Given the description of an element on the screen output the (x, y) to click on. 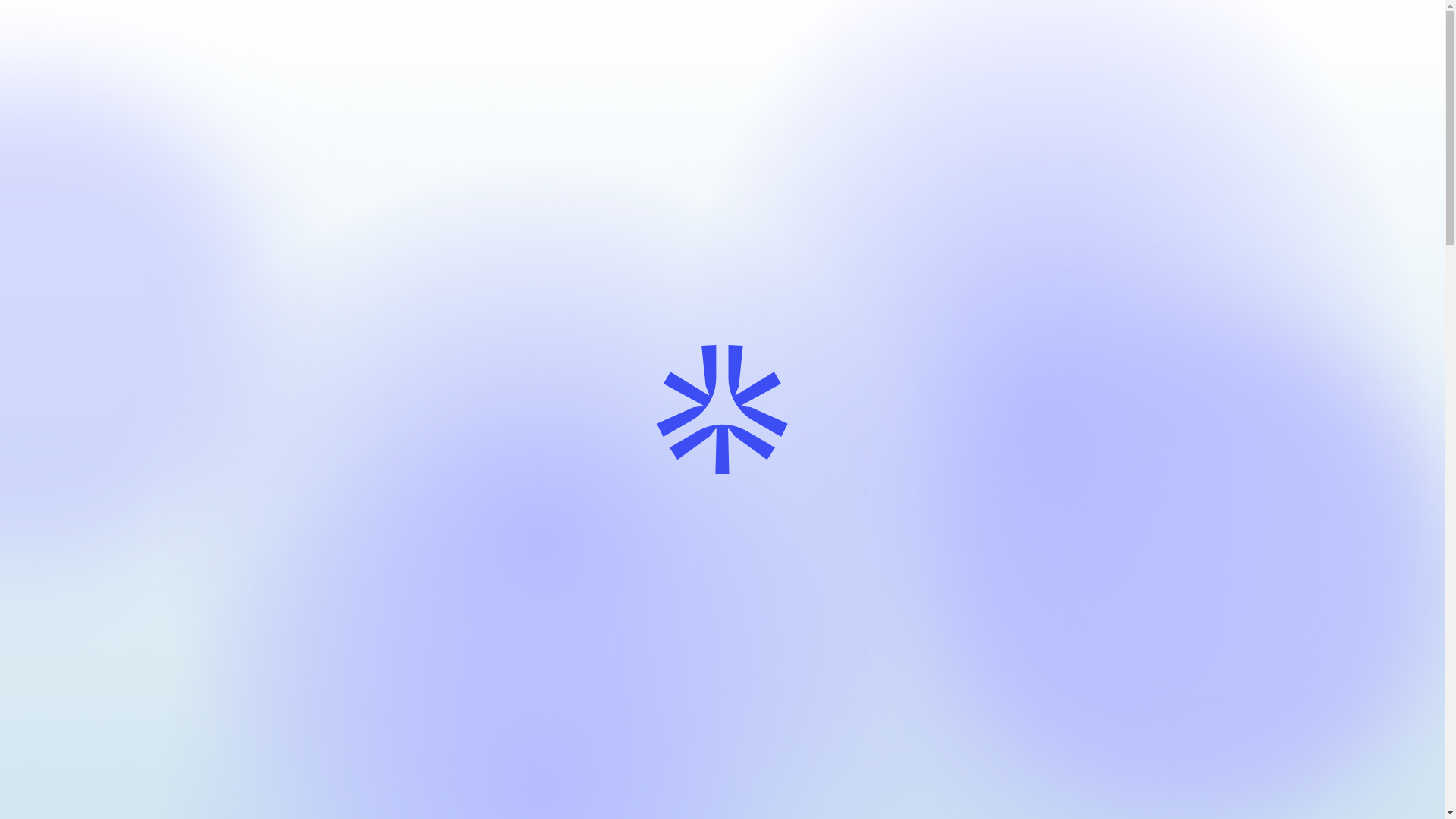
Today (973, 48)
Discover (1044, 48)
